Given the description of an element on the screen output the (x, y) to click on. 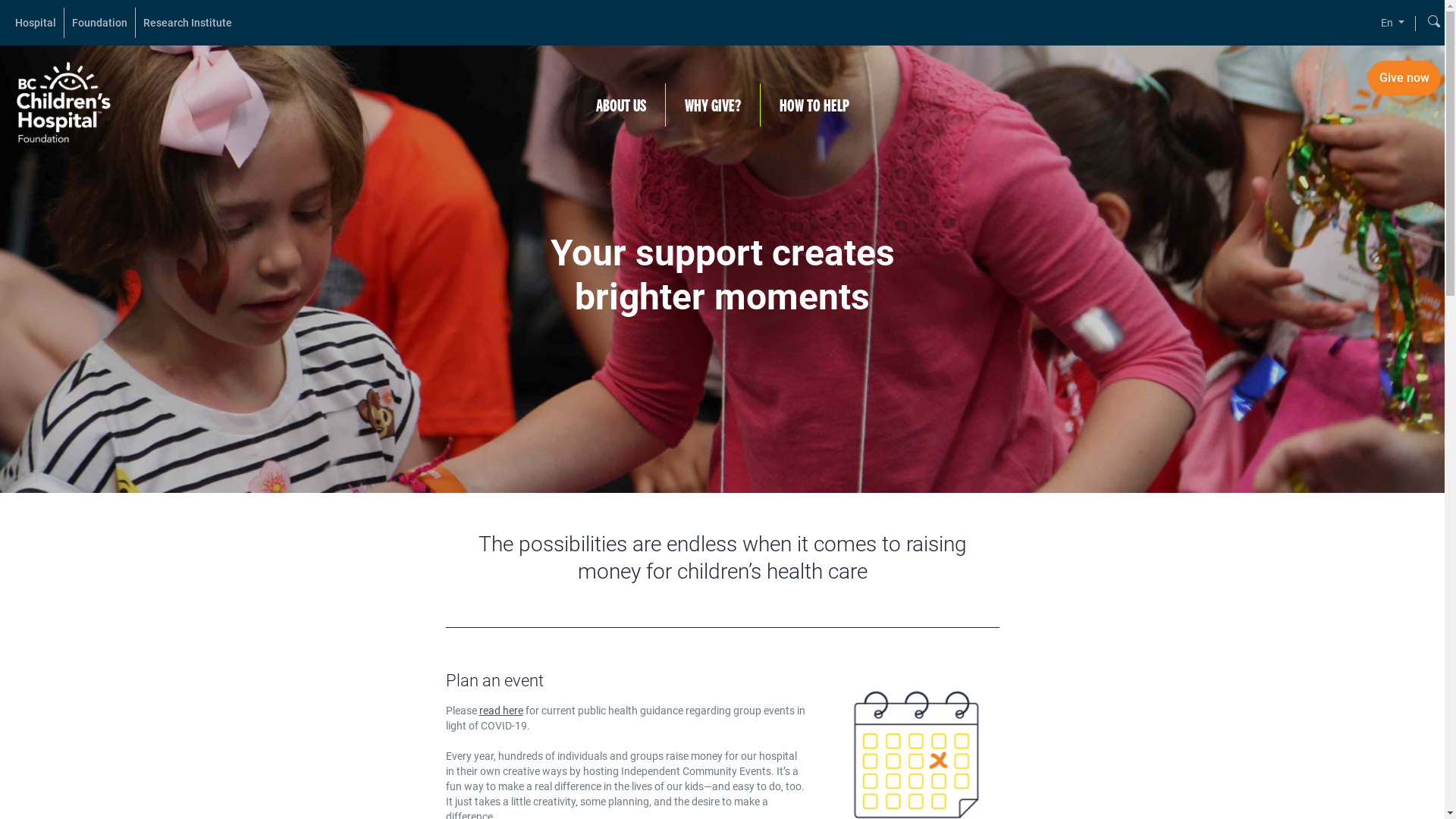
Give now Element type: text (1404, 77)
ABOUT US Element type: text (620, 104)
Hospital Element type: text (35, 22)
Foundation Element type: text (99, 22)
read here Element type: text (501, 710)
WHY GIVE? Element type: text (712, 104)
En Element type: text (1392, 22)
Research Institute Element type: text (187, 22)
HOW TO HELP Element type: text (813, 104)
